Given the description of an element on the screen output the (x, y) to click on. 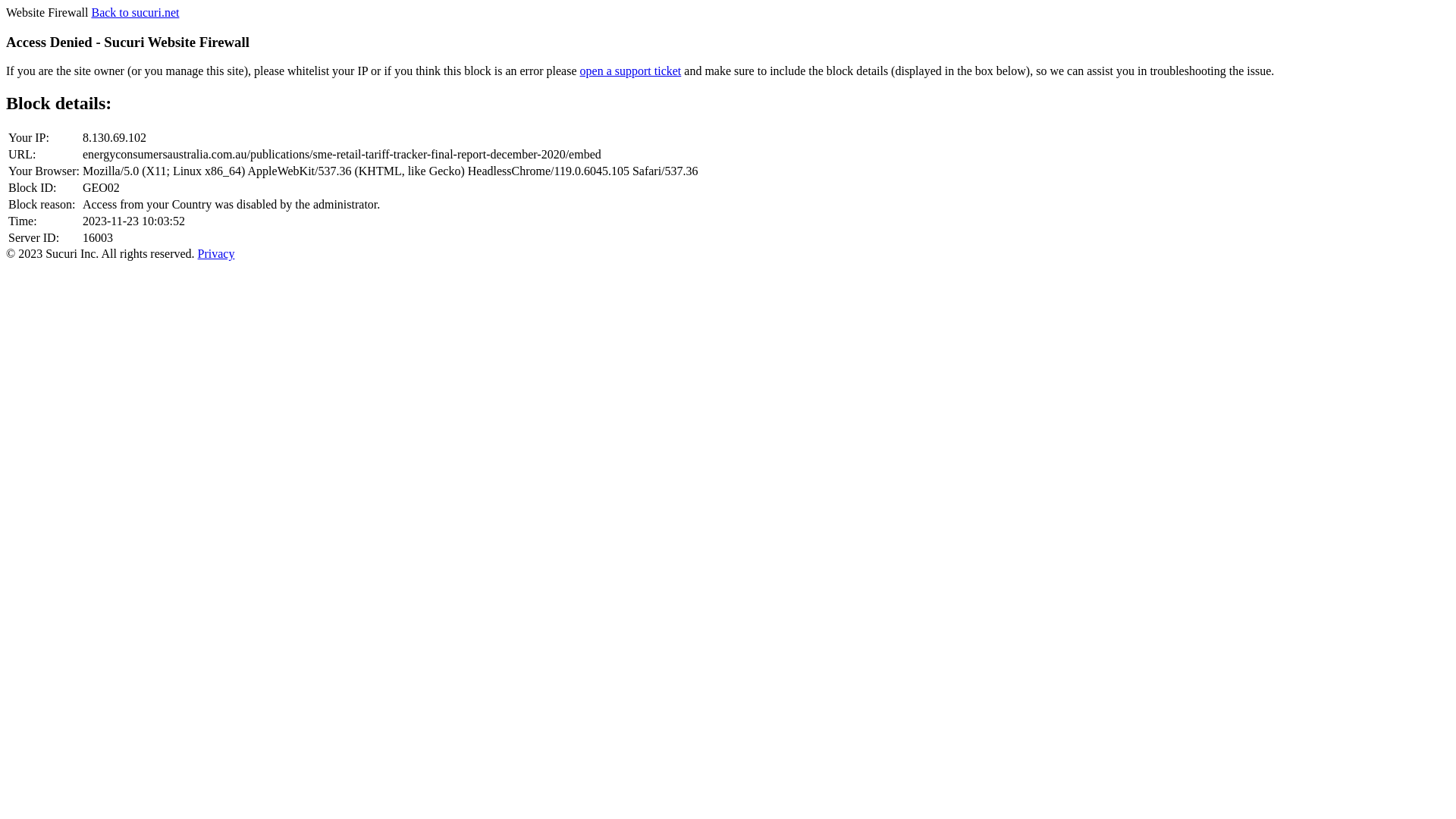
Privacy Element type: text (216, 253)
Back to sucuri.net Element type: text (134, 12)
open a support ticket Element type: text (630, 70)
